Given the description of an element on the screen output the (x, y) to click on. 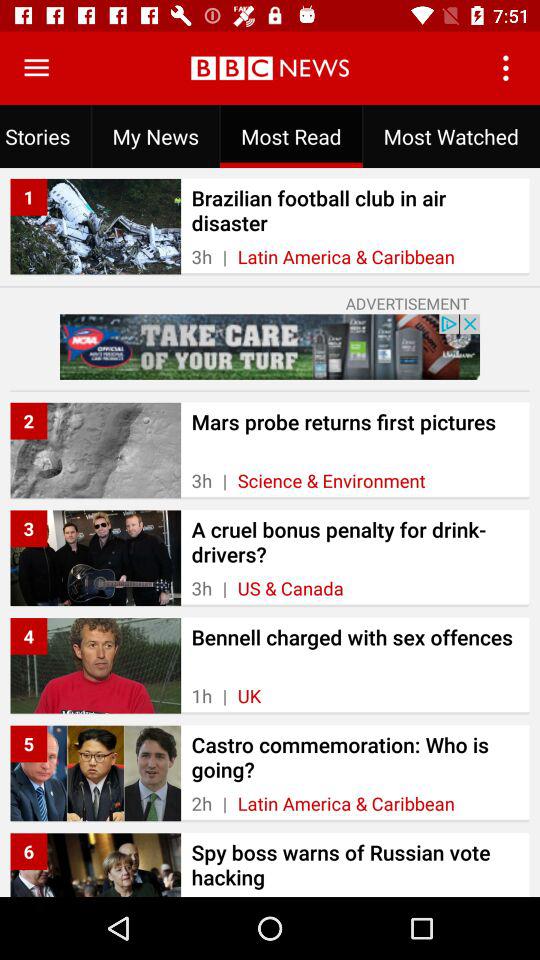
menu button (36, 68)
